Given the description of an element on the screen output the (x, y) to click on. 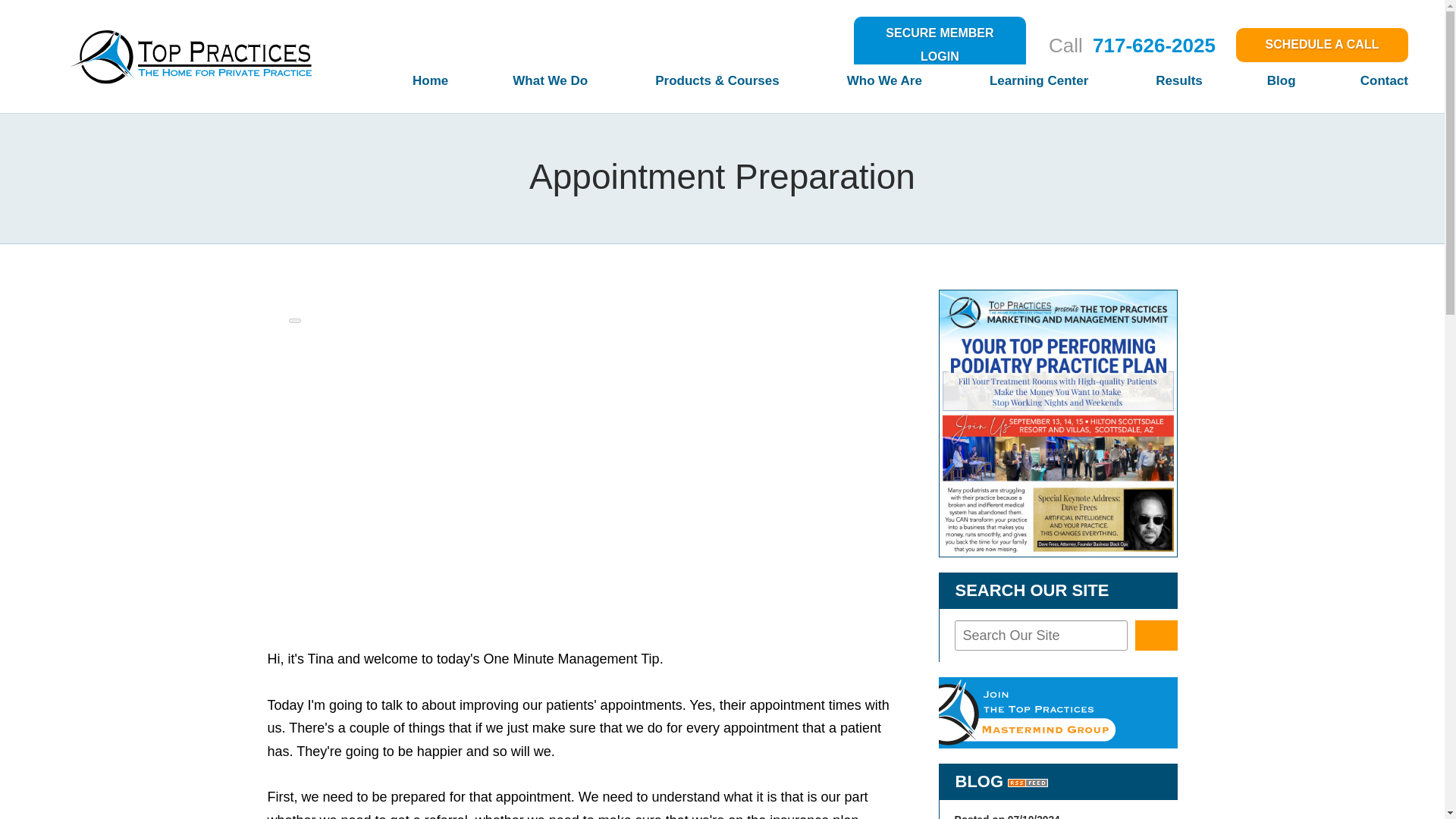
Who We Are (853, 86)
SECURE MEMBER LOGIN (939, 44)
SCHEDULE A CALL (1321, 44)
Subscribe to our RSS Feed (1027, 781)
What We Do (519, 86)
Learning Center (1007, 86)
Home (397, 86)
Search (1156, 634)
